Given the description of an element on the screen output the (x, y) to click on. 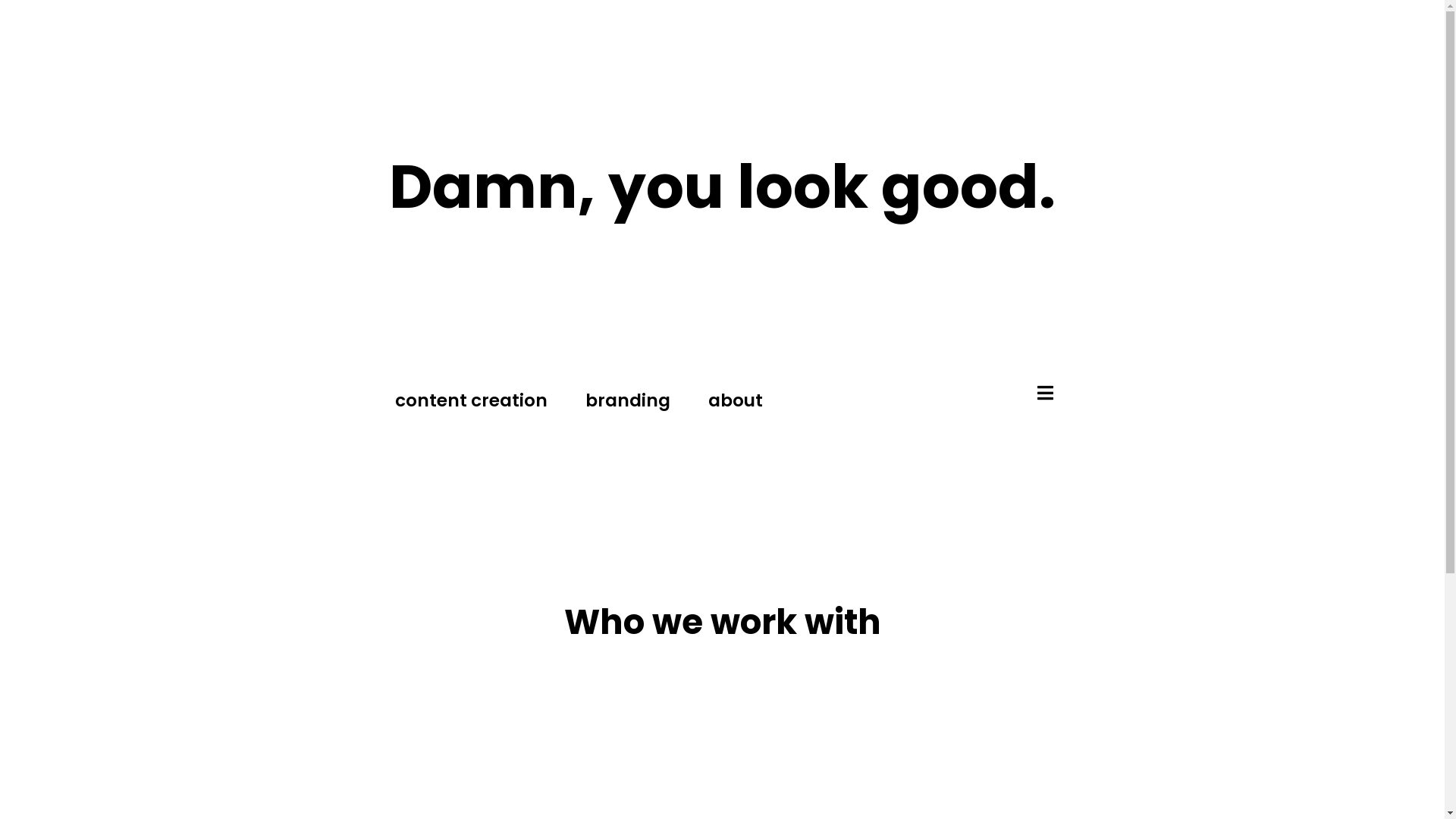
about Element type: text (735, 400)
content creation Element type: text (471, 400)
branding Element type: text (627, 400)
